Given the description of an element on the screen output the (x, y) to click on. 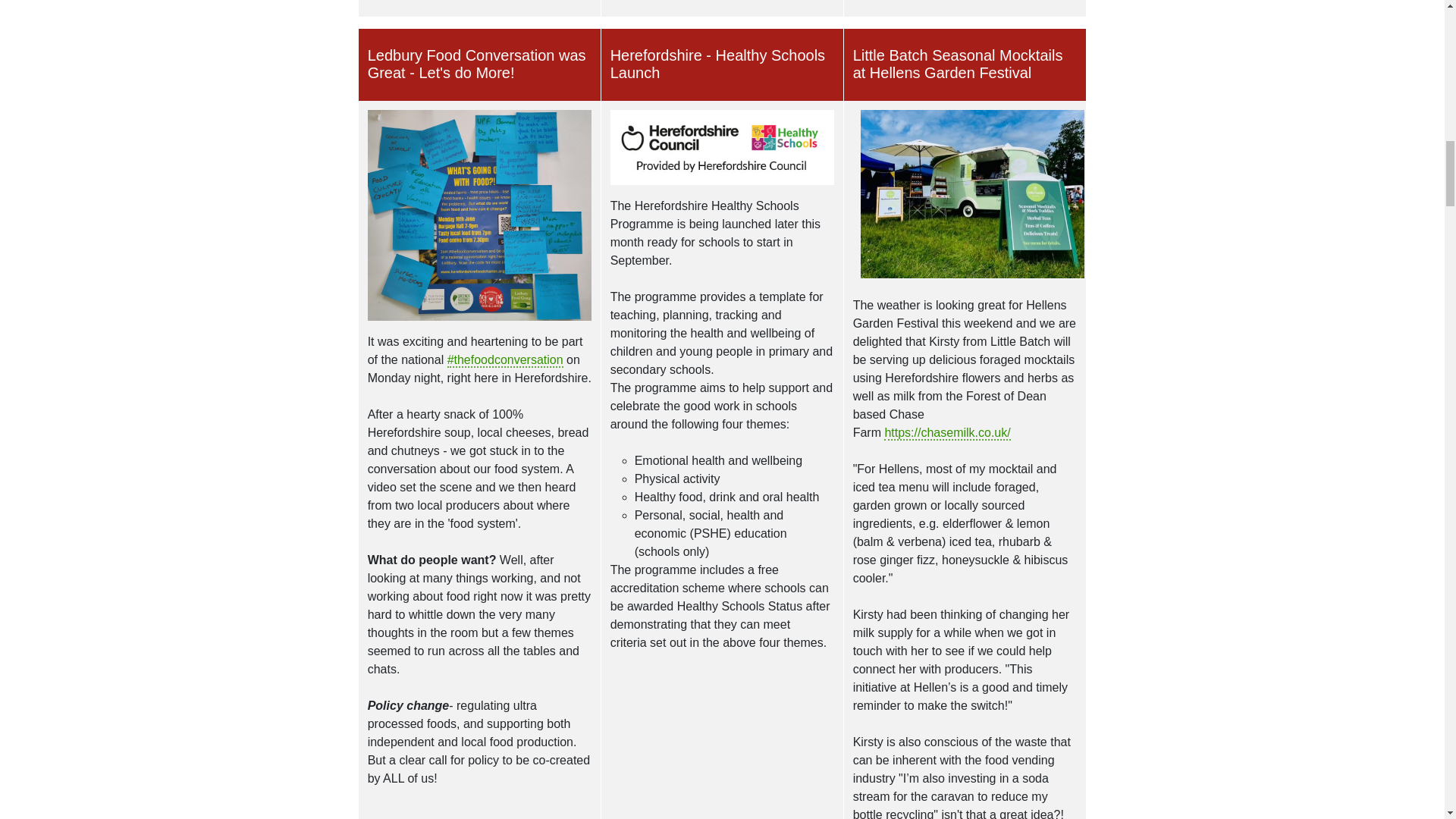
Little Batch Seasonal Mocktails at Hellens Garden Festival (965, 63)
Ledbury Food Conversation was Great - Let's do More! (480, 63)
Herefordshire - Healthy Schools Launch (722, 63)
